Given the description of an element on the screen output the (x, y) to click on. 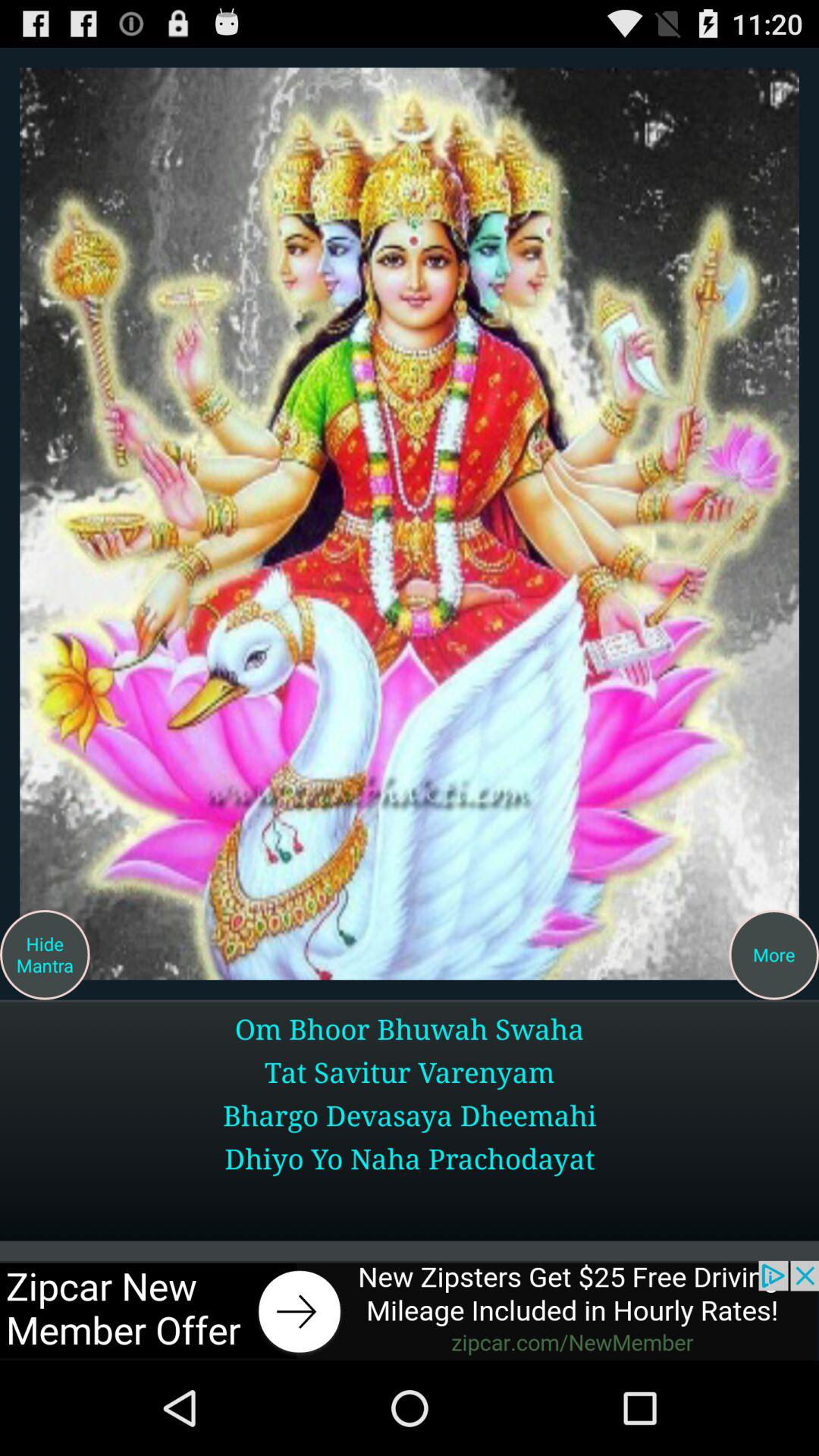
close the add (409, 1310)
